Given the description of an element on the screen output the (x, y) to click on. 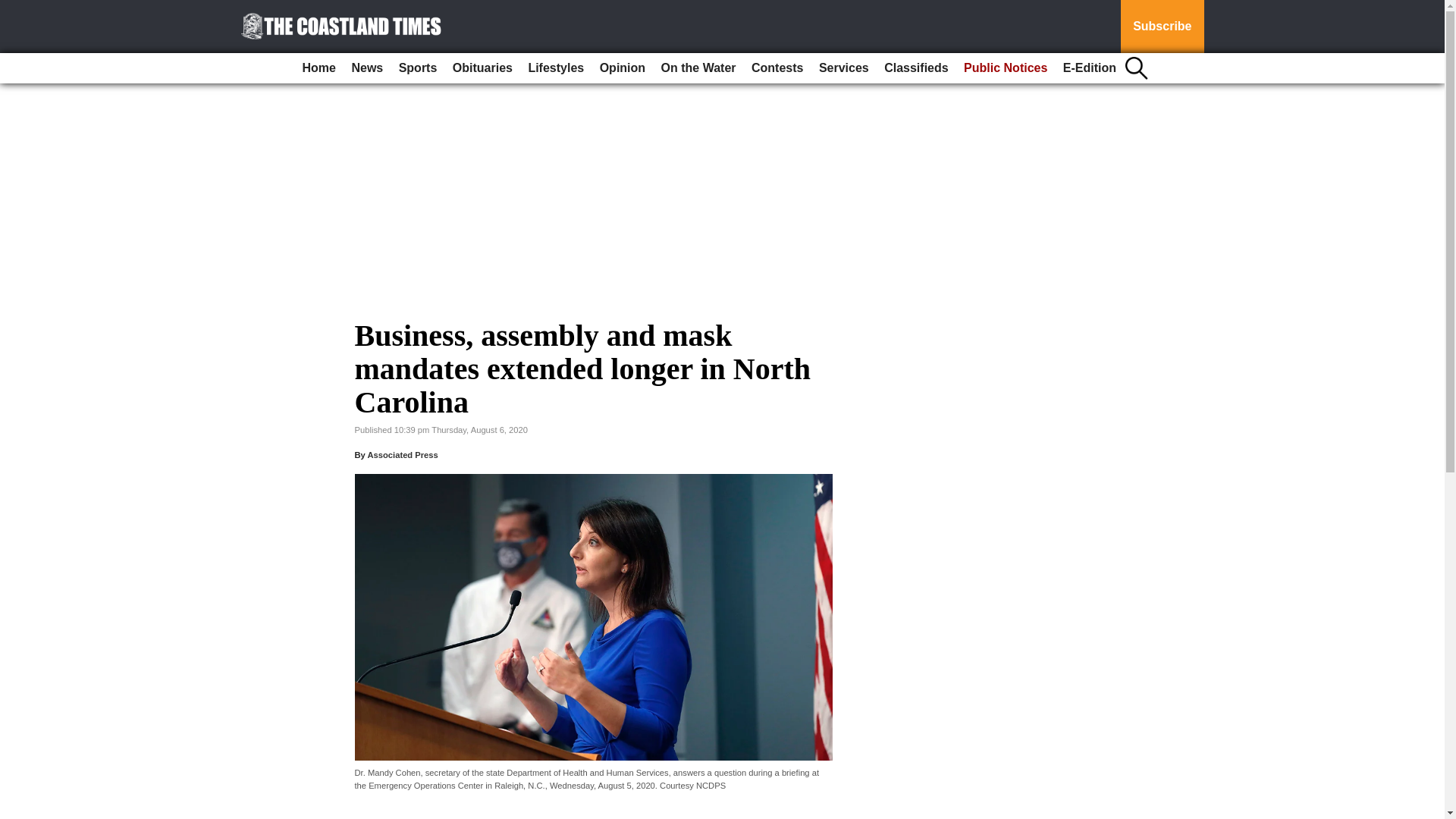
Associated Press (402, 454)
E-Edition (1089, 68)
Go (13, 9)
Services (843, 68)
Sports (418, 68)
Obituaries (482, 68)
Home (319, 68)
Lifestyles (555, 68)
Subscribe (1162, 26)
News (366, 68)
